Given the description of an element on the screen output the (x, y) to click on. 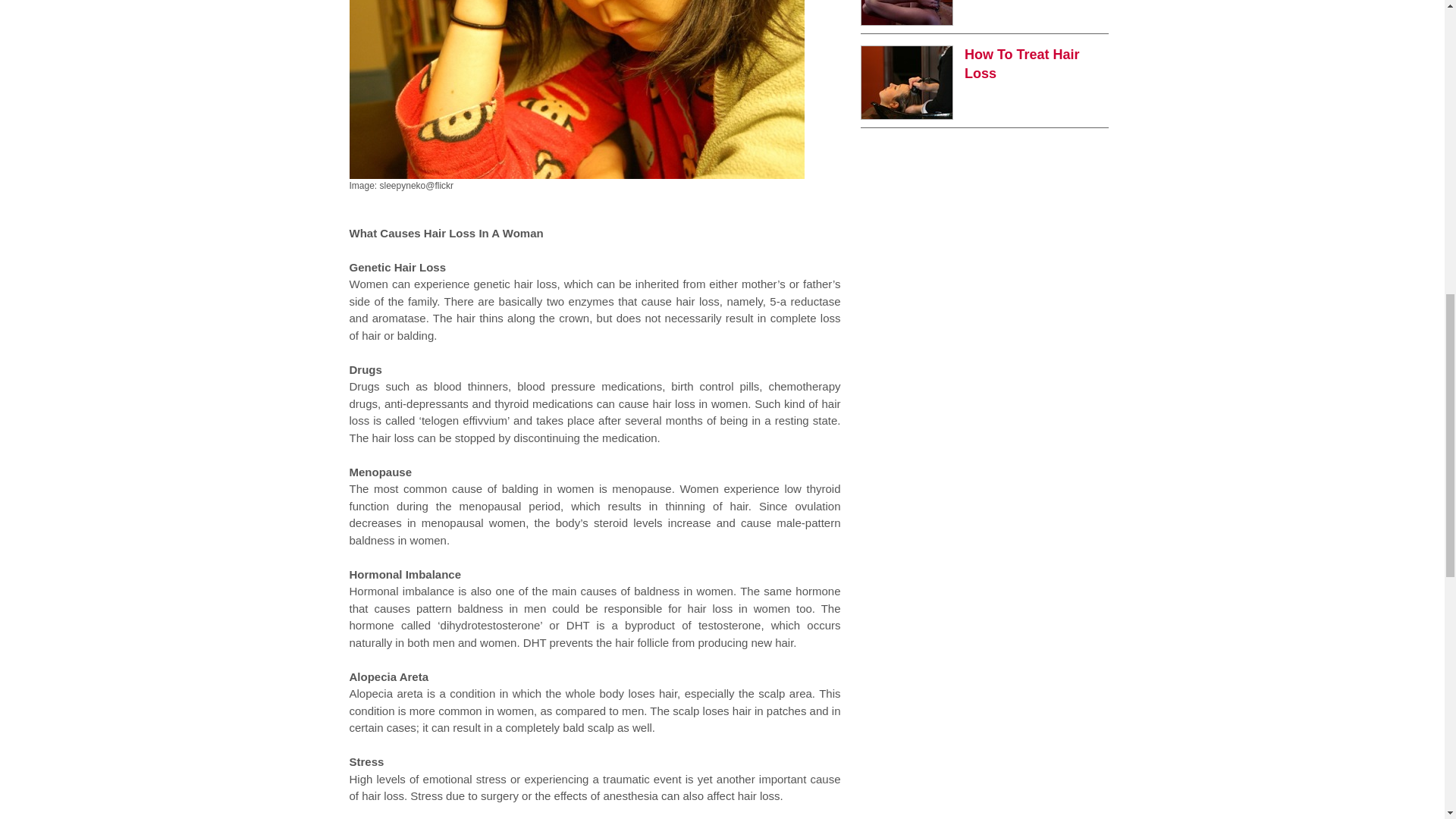
How To Treat Hair Loss (1021, 63)
